Given the description of an element on the screen output the (x, y) to click on. 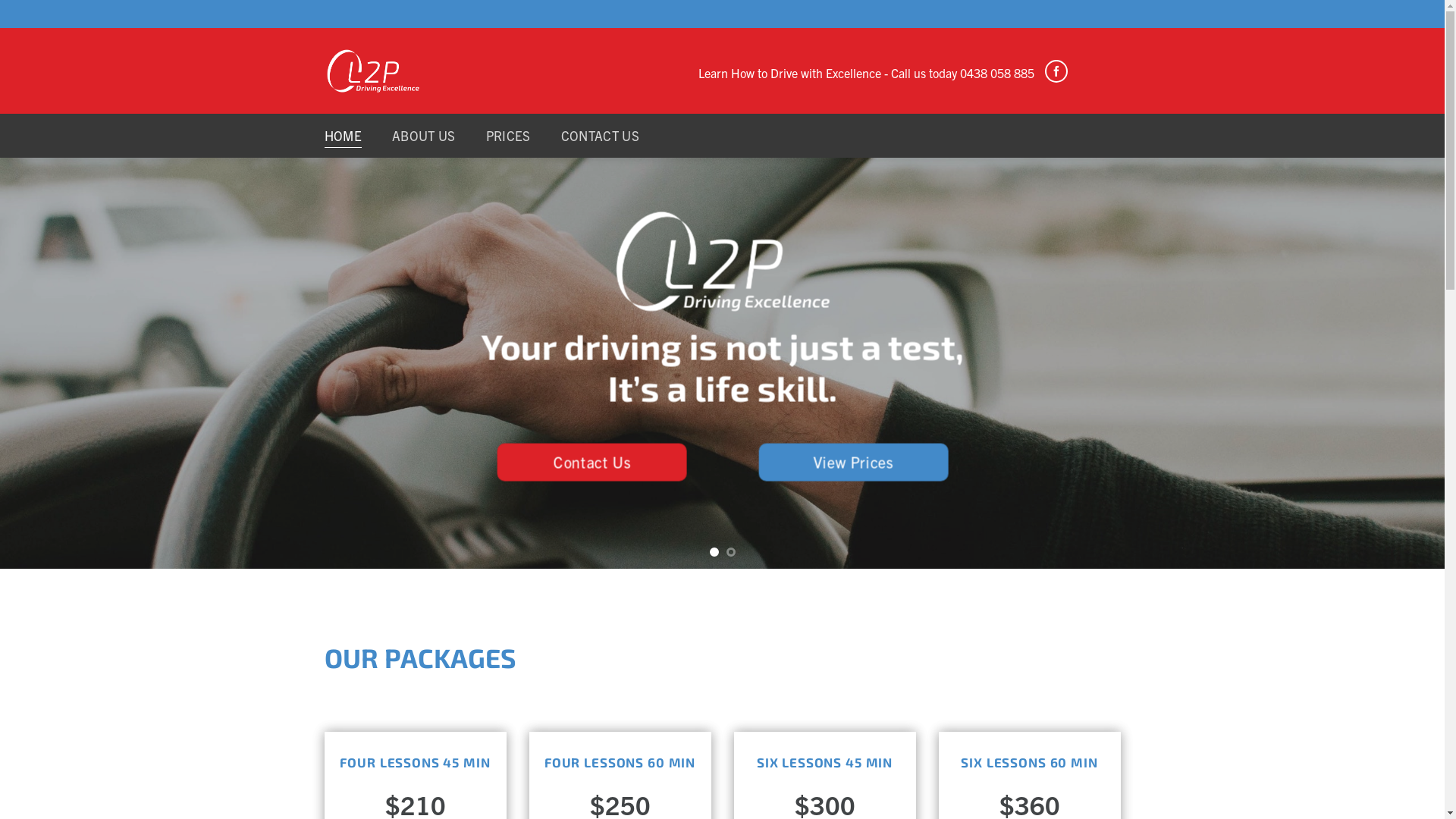
Follow on Facebook Element type: hover (1055, 70)
ABOUT US Element type: text (423, 135)
HOME Element type: text (342, 135)
View Prices Element type: text (852, 461)
PRICES Element type: text (508, 135)
CONTACT US Element type: text (600, 135)
Contact Us Element type: text (591, 461)
L2P Driving Excellence - Learn How to Drive with Excellence Element type: hover (372, 70)
